Given the description of an element on the screen output the (x, y) to click on. 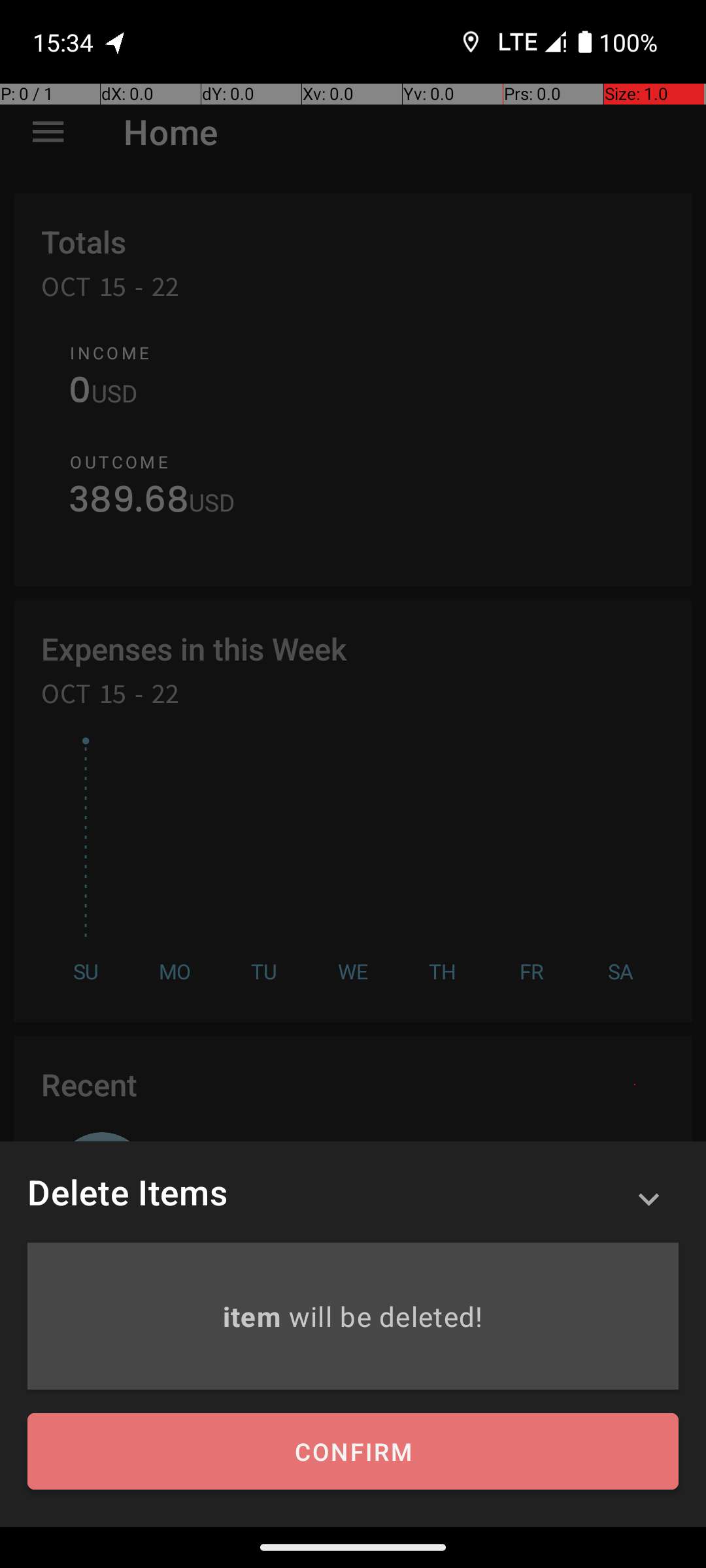
OpenTracks notification:  Element type: android.widget.ImageView (115, 41)
